Given the description of an element on the screen output the (x, y) to click on. 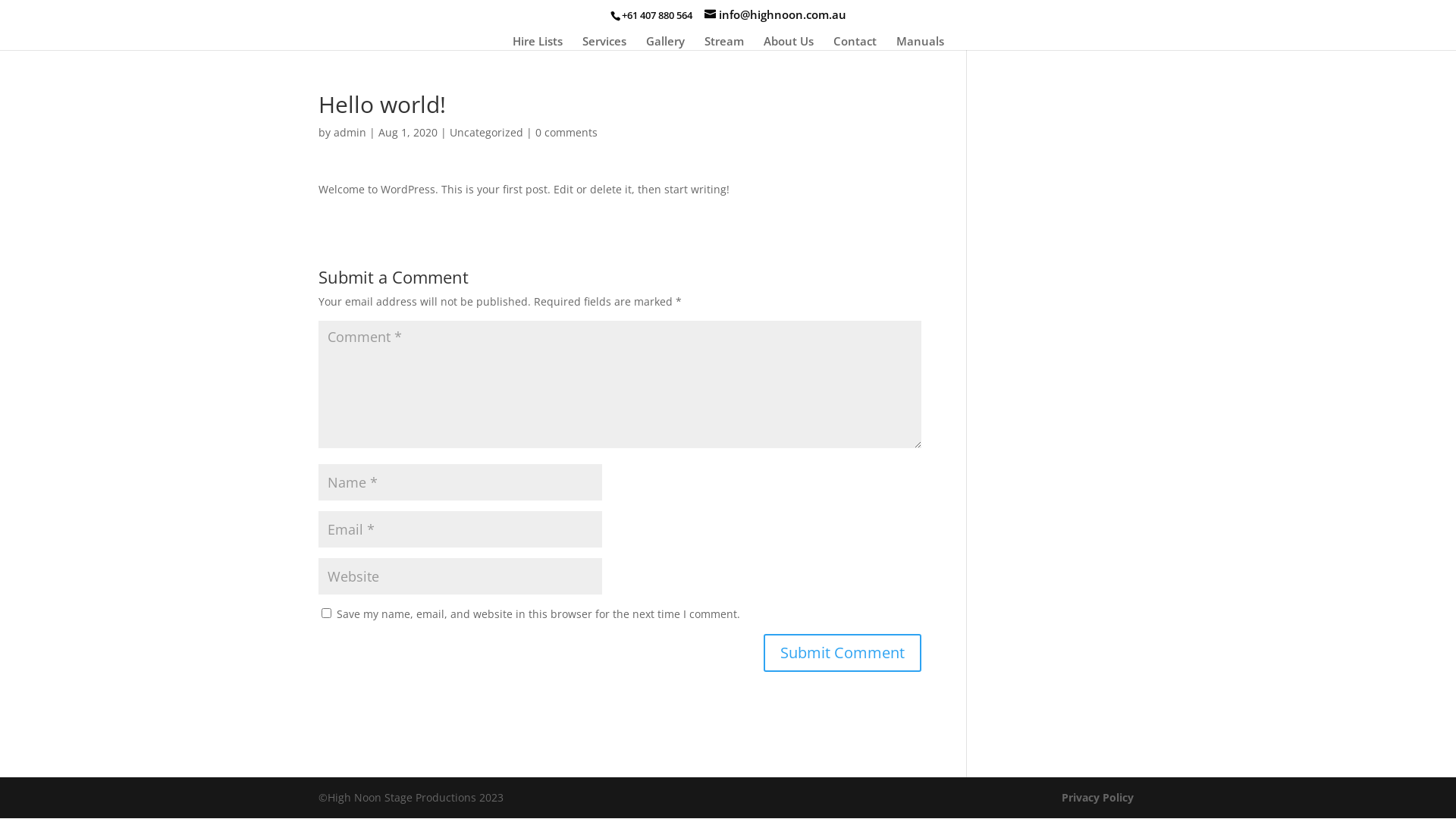
admin Element type: text (349, 132)
Gallery Element type: text (665, 42)
Manuals Element type: text (920, 42)
Submit Comment Element type: text (842, 652)
info@highnoon.com.au Element type: text (774, 13)
Hire Lists Element type: text (537, 42)
Contact Element type: text (853, 42)
Uncategorized Element type: text (486, 132)
Privacy Policy Element type: text (1097, 797)
0 comments Element type: text (566, 132)
Stream Element type: text (723, 42)
About Us Element type: text (787, 42)
Services Element type: text (604, 42)
